Given the description of an element on the screen output the (x, y) to click on. 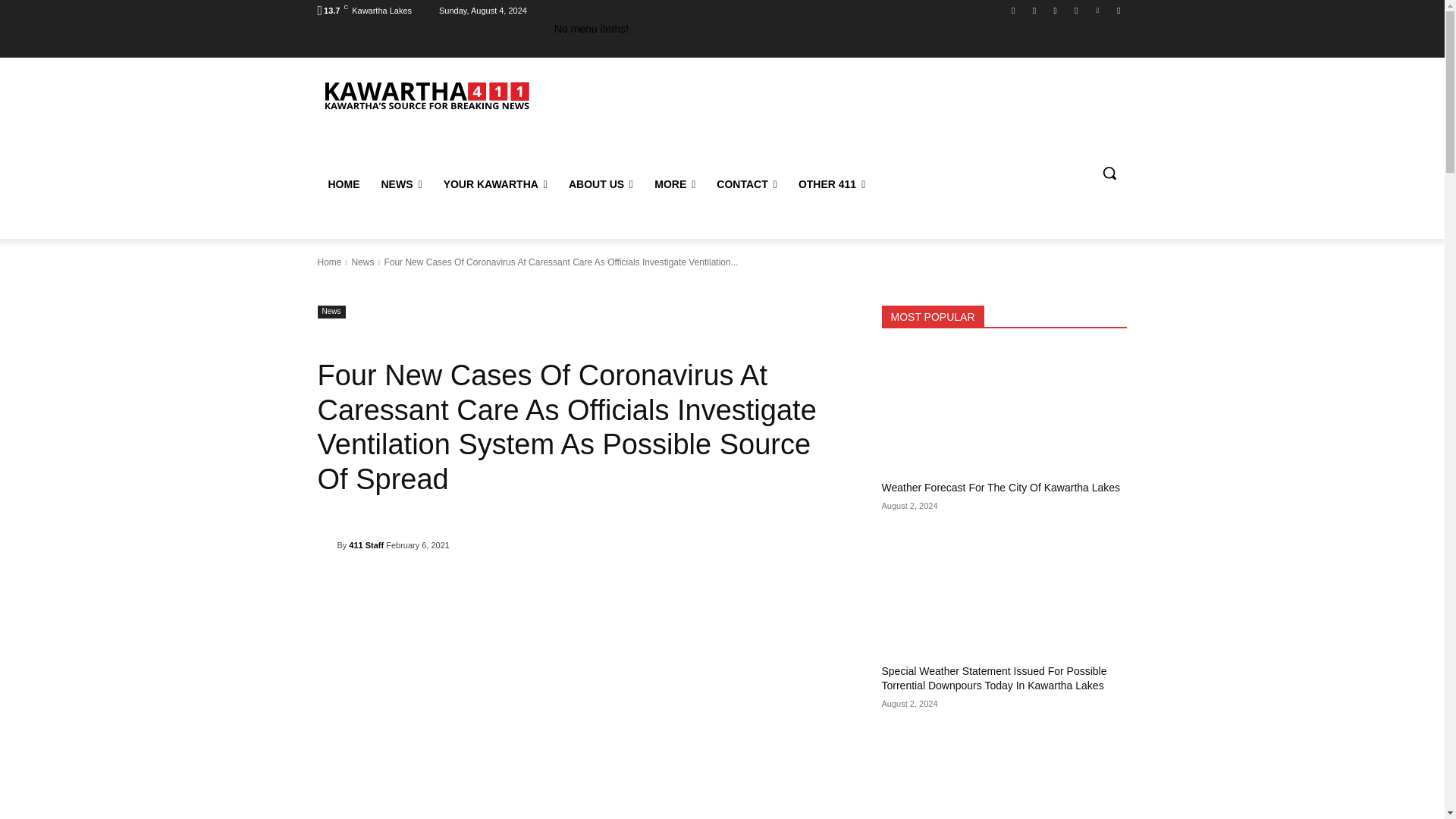
Youtube (1117, 9)
View all posts in News (362, 262)
Paypal (1055, 9)
Instagram (1034, 9)
Facebook (1013, 9)
Kawartha 411 News (425, 94)
Telegram (1075, 9)
Twitter (1097, 9)
